Given the description of an element on the screen output the (x, y) to click on. 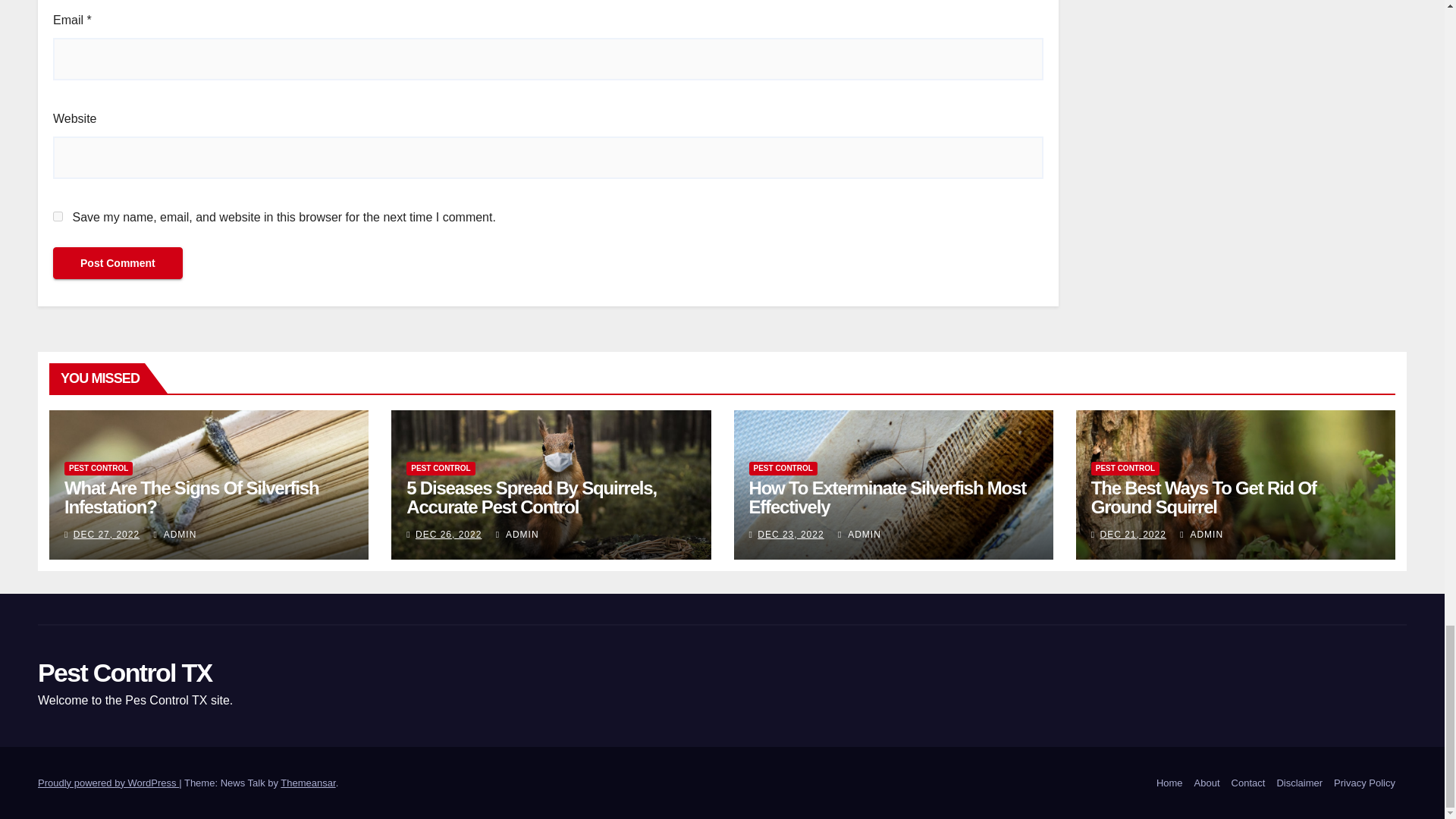
Permalink to: How To Exterminate Silverfish Most Effectively (887, 496)
Post Comment (117, 263)
yes (57, 216)
Permalink to: The Best Ways To Get Rid Of Ground Squirrel (1203, 496)
Post Comment (117, 263)
Permalink to: What Are The Signs Of Silverfish Infestation? (191, 496)
